Given the description of an element on the screen output the (x, y) to click on. 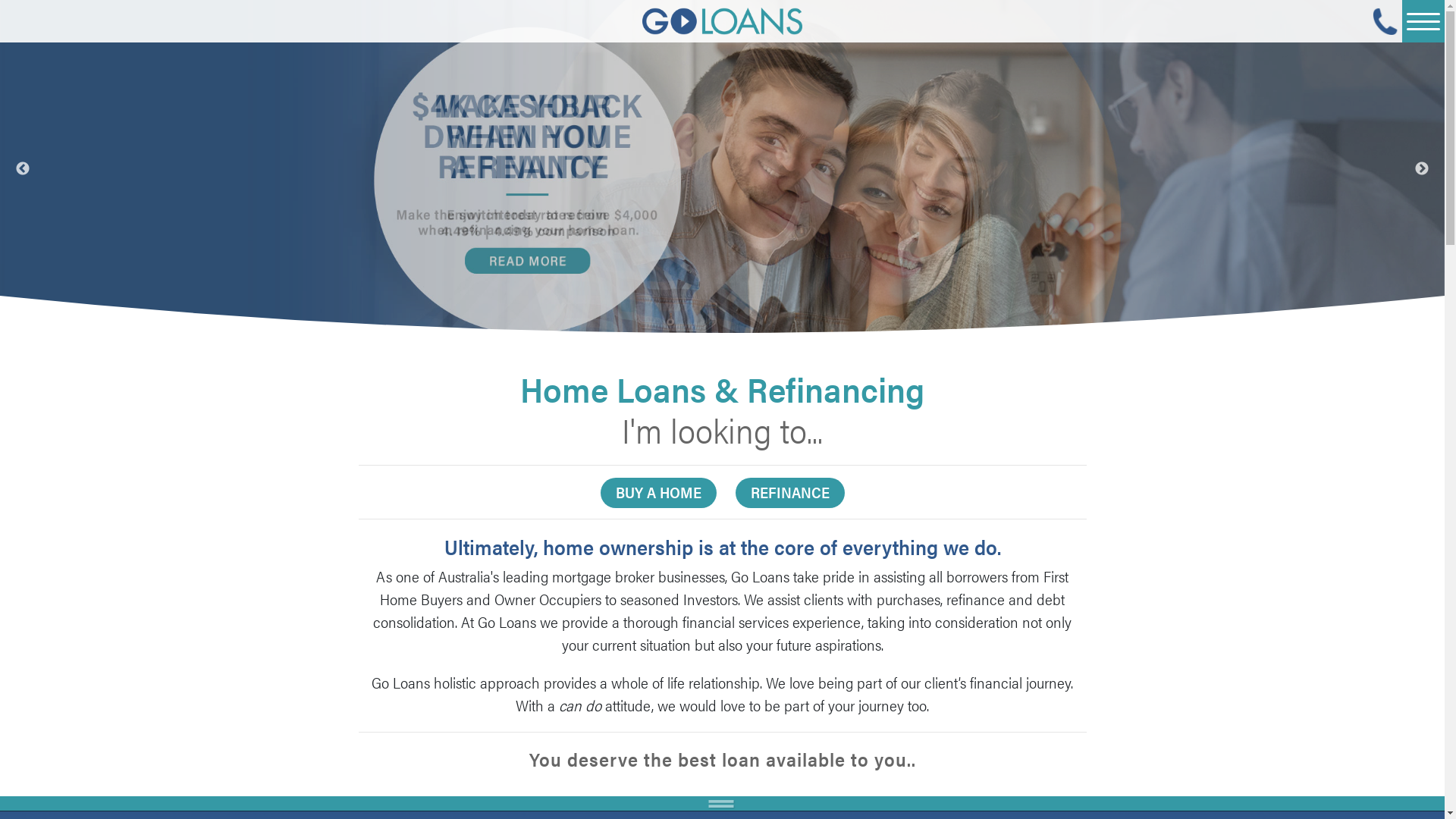
Next Element type: text (1421, 167)
Previous Element type: text (22, 167)
REFINANCE Element type: text (789, 492)
BUY A HOME Element type: text (658, 492)
